Given the description of an element on the screen output the (x, y) to click on. 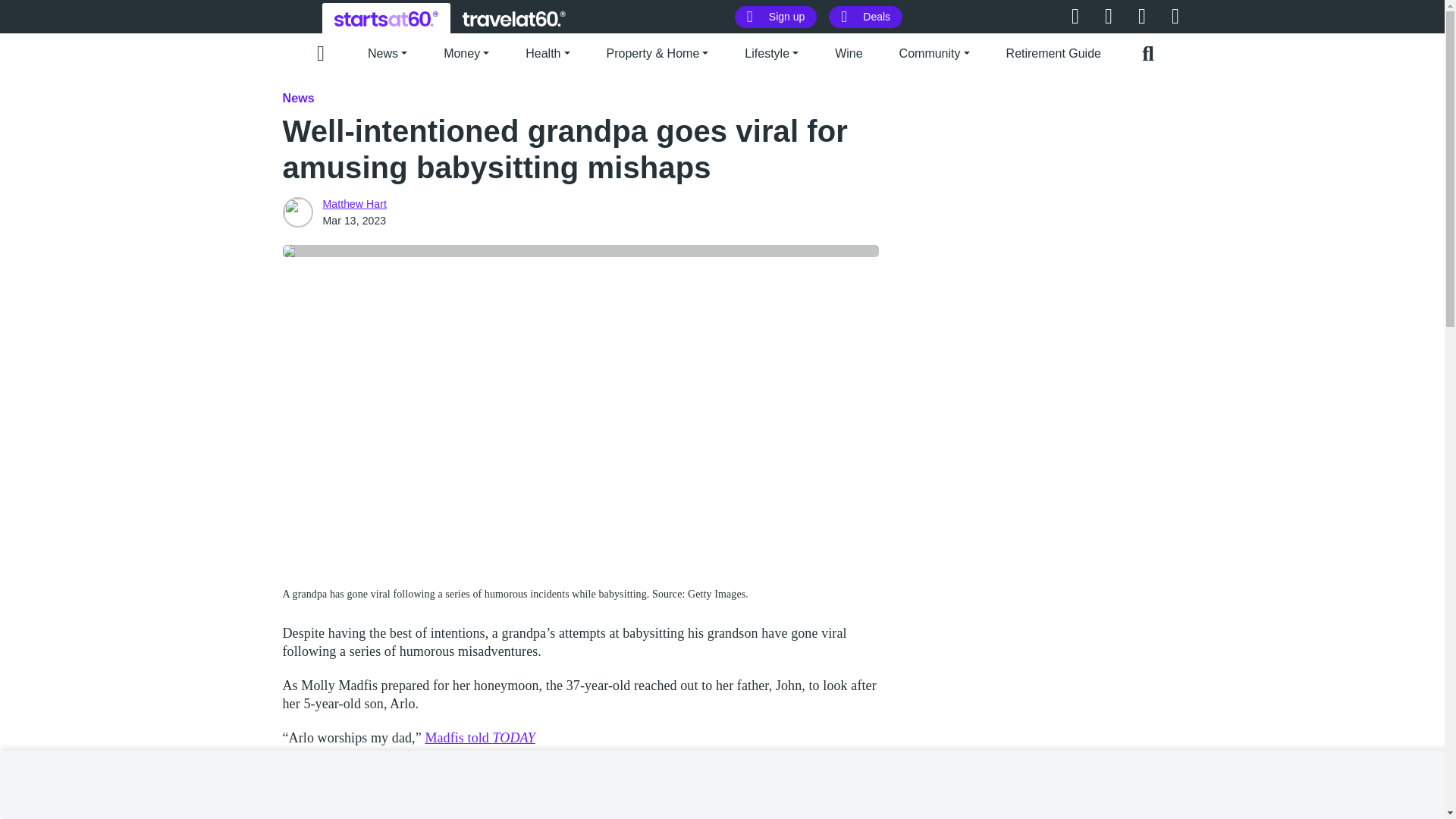
Hi !  (386, 18)
Hi !  (514, 18)
Sign up (775, 16)
Matthew Hart (297, 212)
Matthew Hart (355, 203)
News (387, 51)
Health (547, 51)
Money (466, 51)
News (298, 97)
Deals (865, 16)
